Given the description of an element on the screen output the (x, y) to click on. 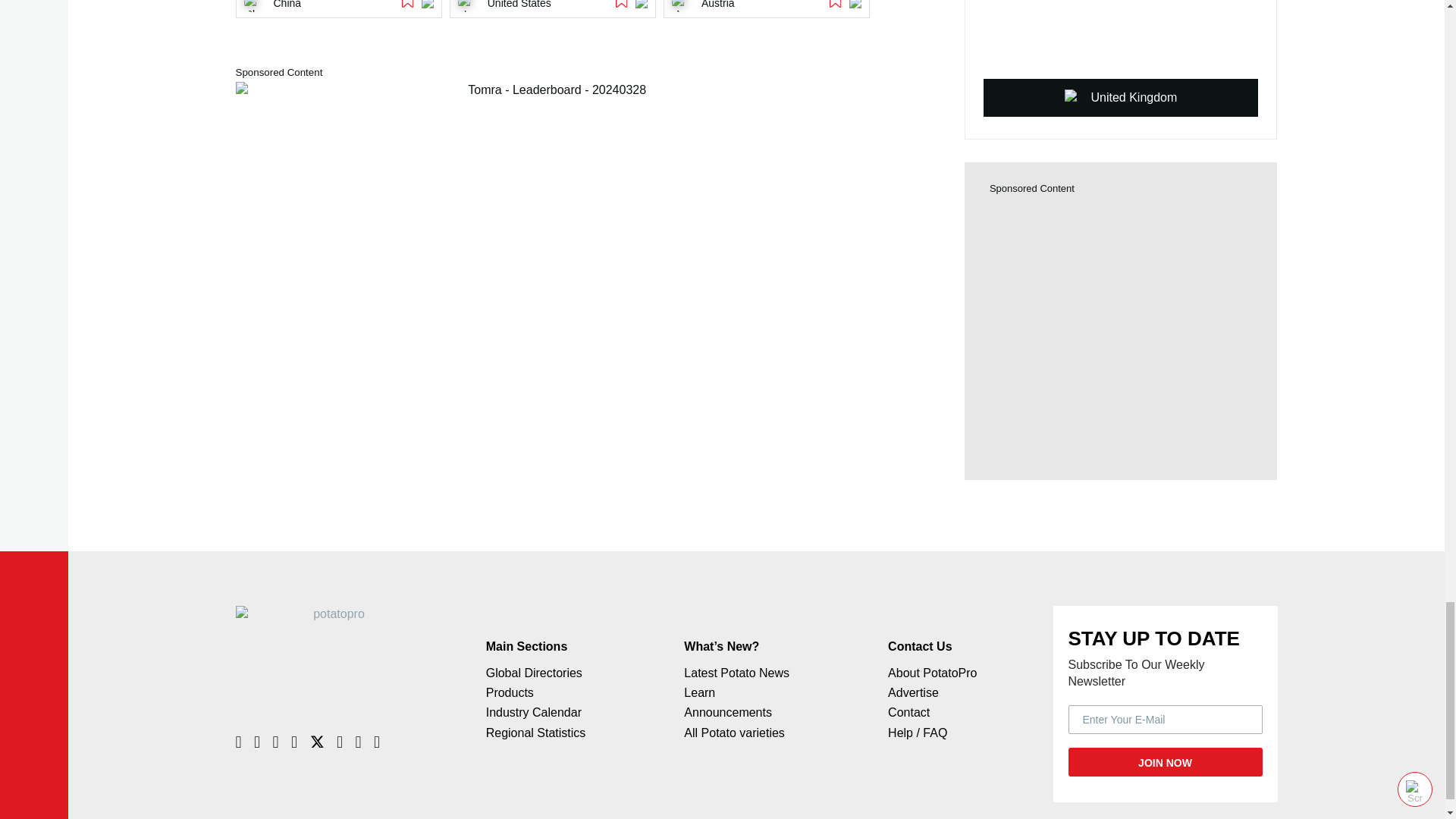
JOIN NOW (1164, 761)
